Given the description of an element on the screen output the (x, y) to click on. 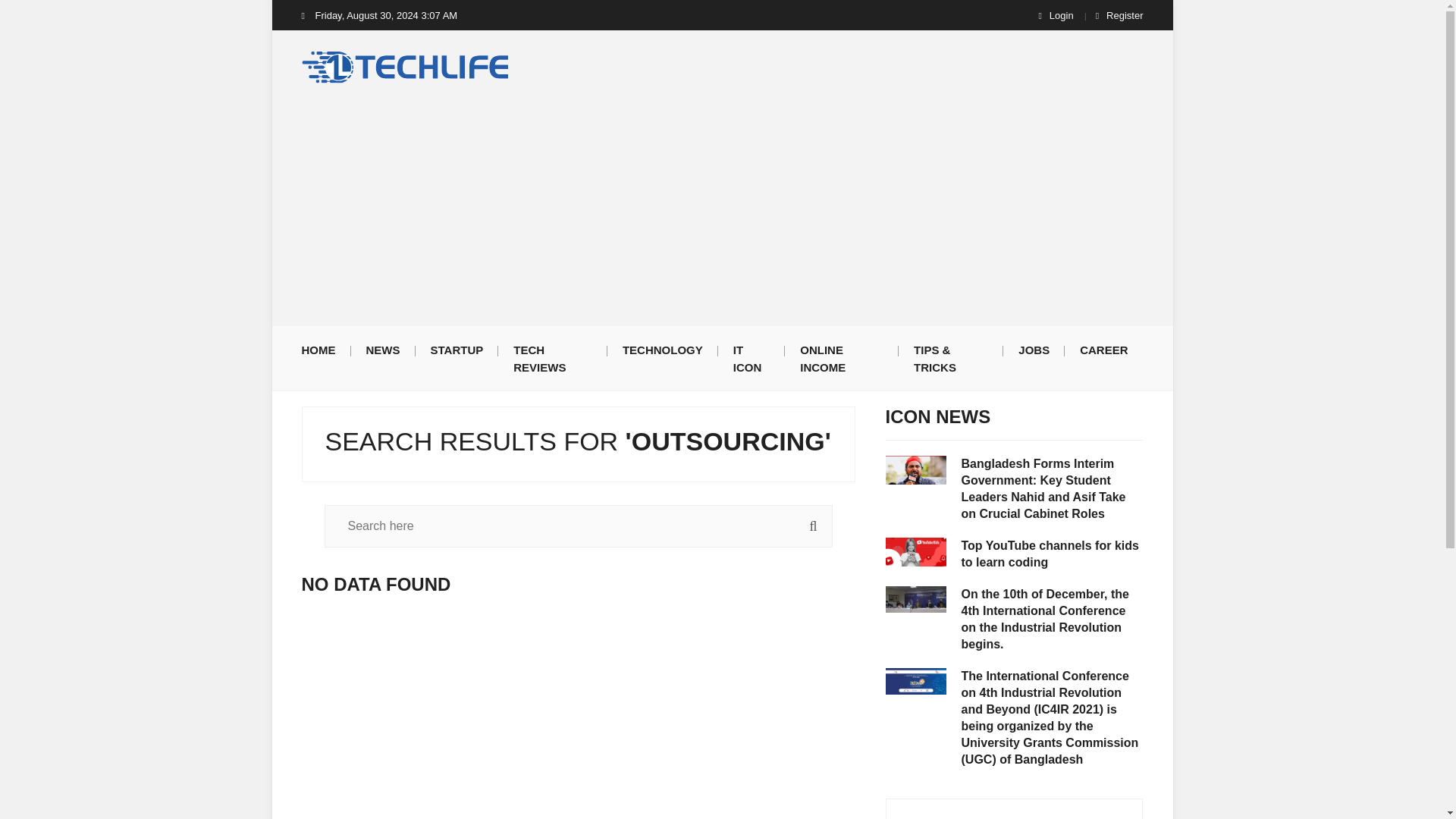
STARTUP (456, 349)
IT ICON (751, 357)
Register (1119, 15)
Top YouTube channels for kids to learn coding (1051, 553)
ONLINE INCOME (841, 357)
TECH REVIEWS (552, 357)
HOME (325, 349)
TECHNOLOGY (662, 349)
JOBS (1033, 349)
